Given the description of an element on the screen output the (x, y) to click on. 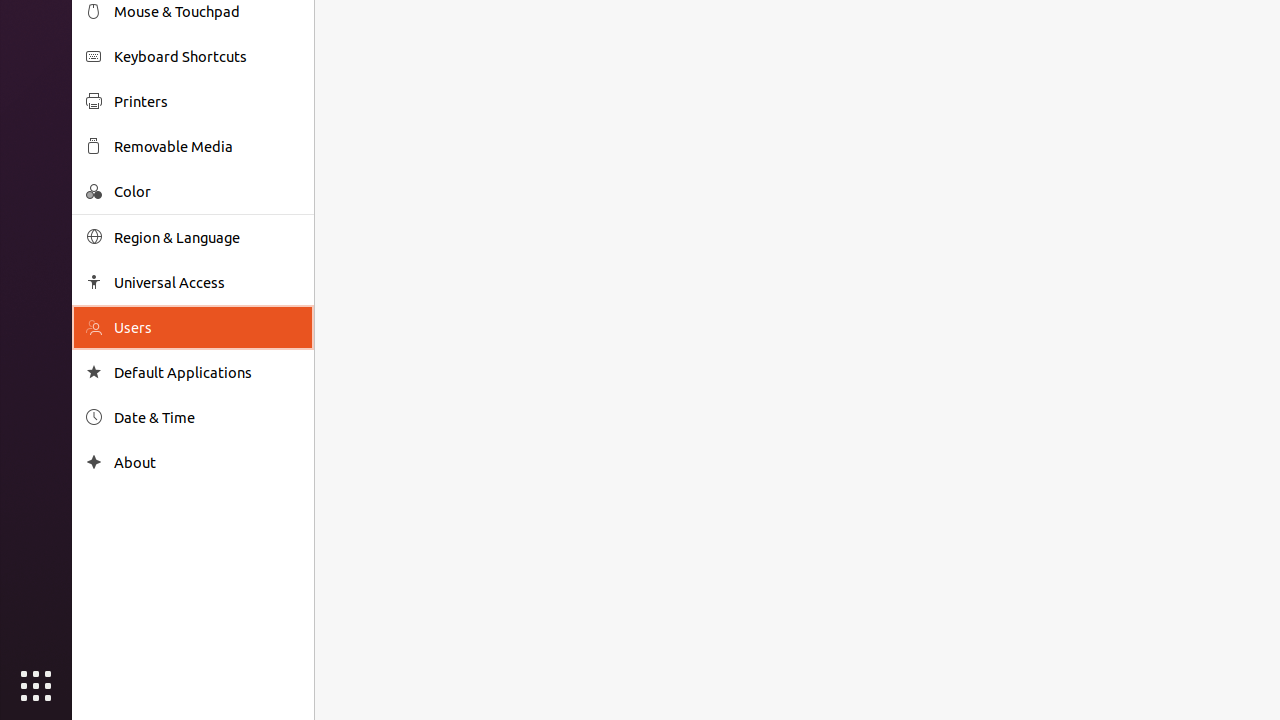
Printers Element type: label (207, 101)
Color Element type: label (207, 191)
Universal Access Element type: label (207, 282)
About Element type: label (207, 462)
